Given the description of an element on the screen output the (x, y) to click on. 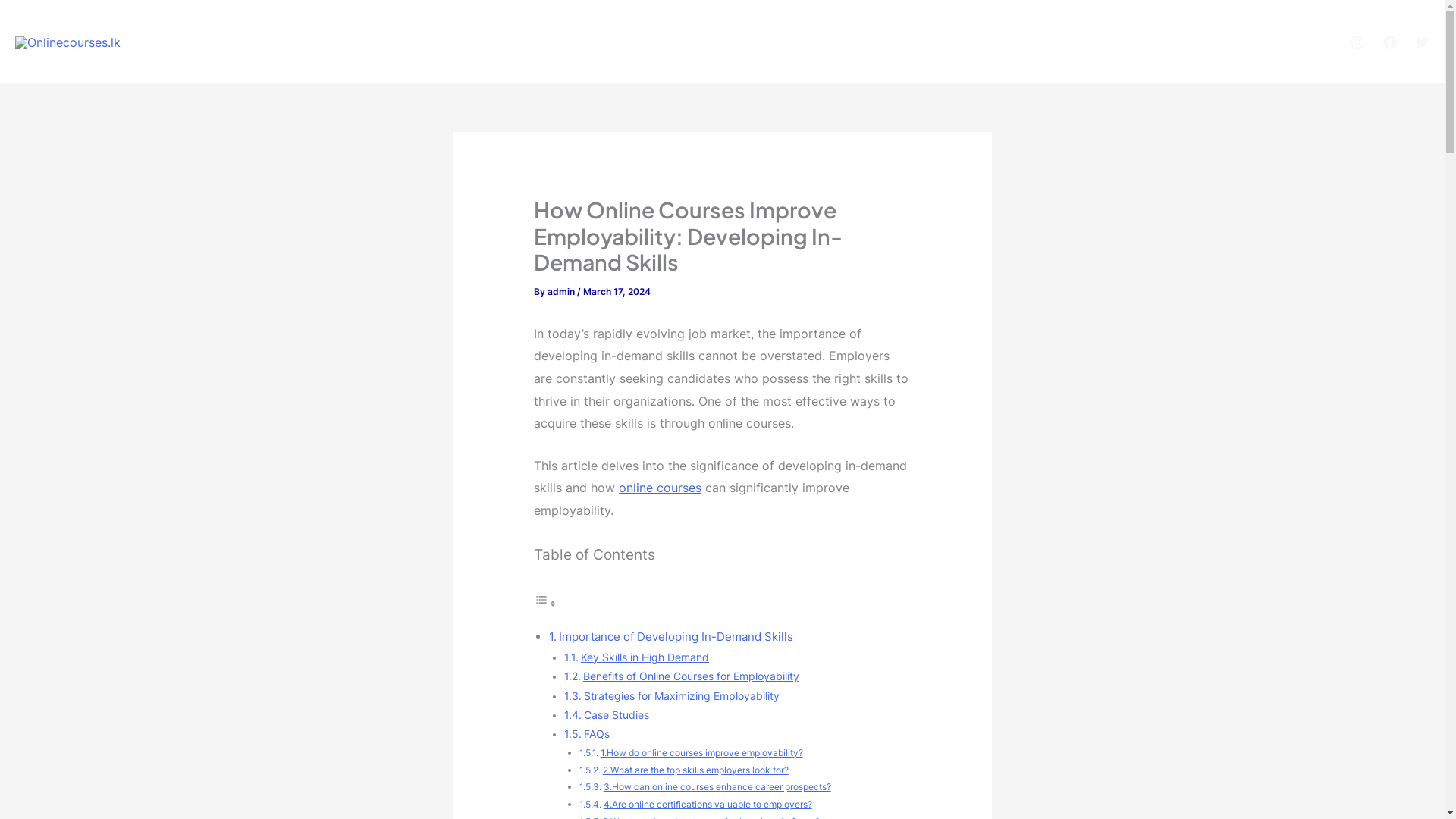
FAQs (596, 734)
Importance of Developing In-Demand Skills (676, 636)
Benefits of Online Courses for Employability (691, 676)
Benefits of Online Courses for Employability (691, 676)
admin (561, 291)
Strategies for Maximizing Employability (680, 695)
Key Skills in High Demand (644, 657)
Importance of Developing In-Demand Skills (676, 636)
5.What are the advantages of e-learning platforms? (710, 817)
4.Are online certifications valuable to employers? (708, 803)
